Given the description of an element on the screen output the (x, y) to click on. 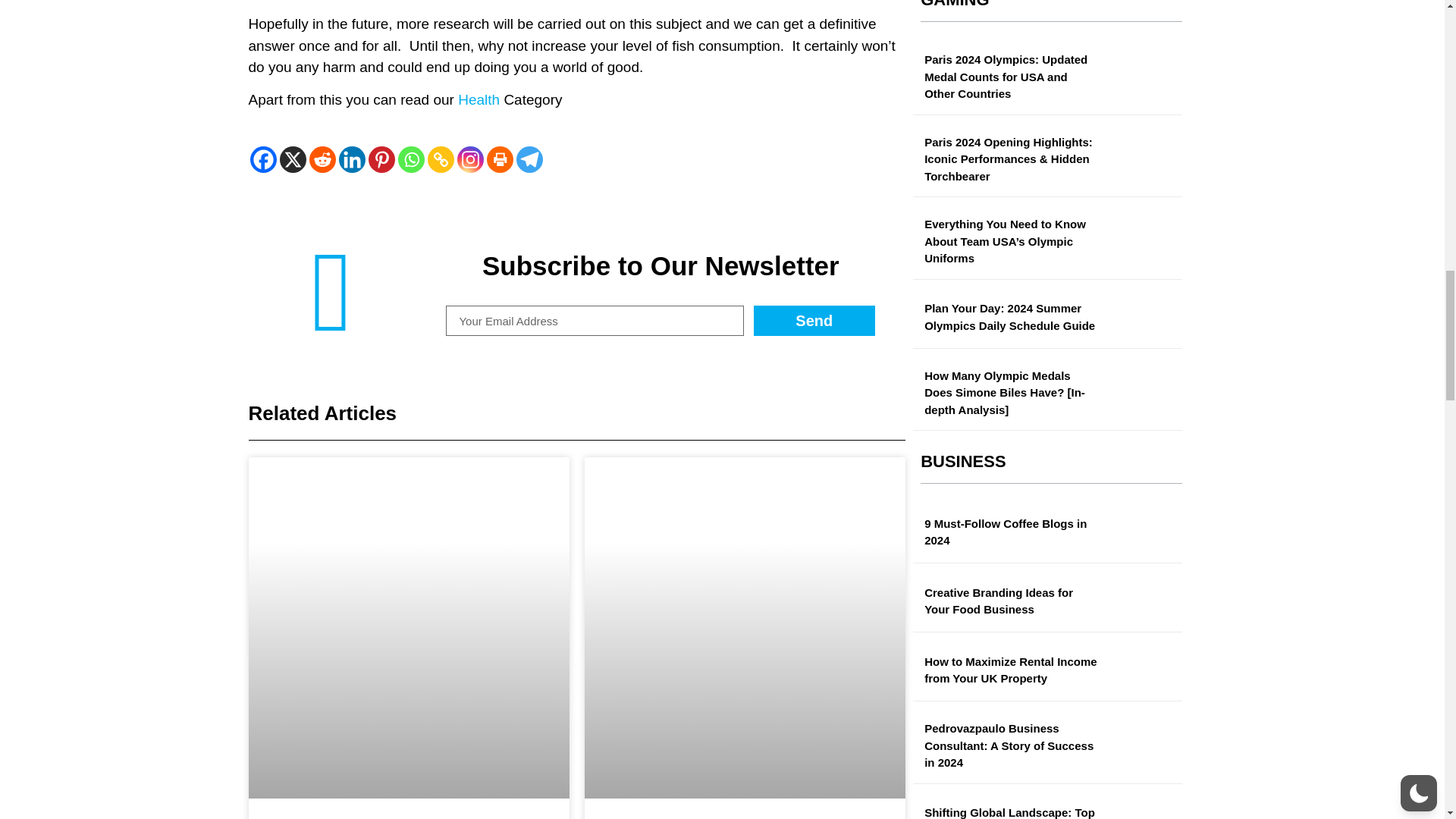
Instagram (470, 159)
Facebook (263, 159)
X (292, 159)
Linkedin (351, 159)
Pinterest (381, 159)
Whatsapp (410, 159)
Copy Link (441, 159)
Reddit (322, 159)
